Given the description of an element on the screen output the (x, y) to click on. 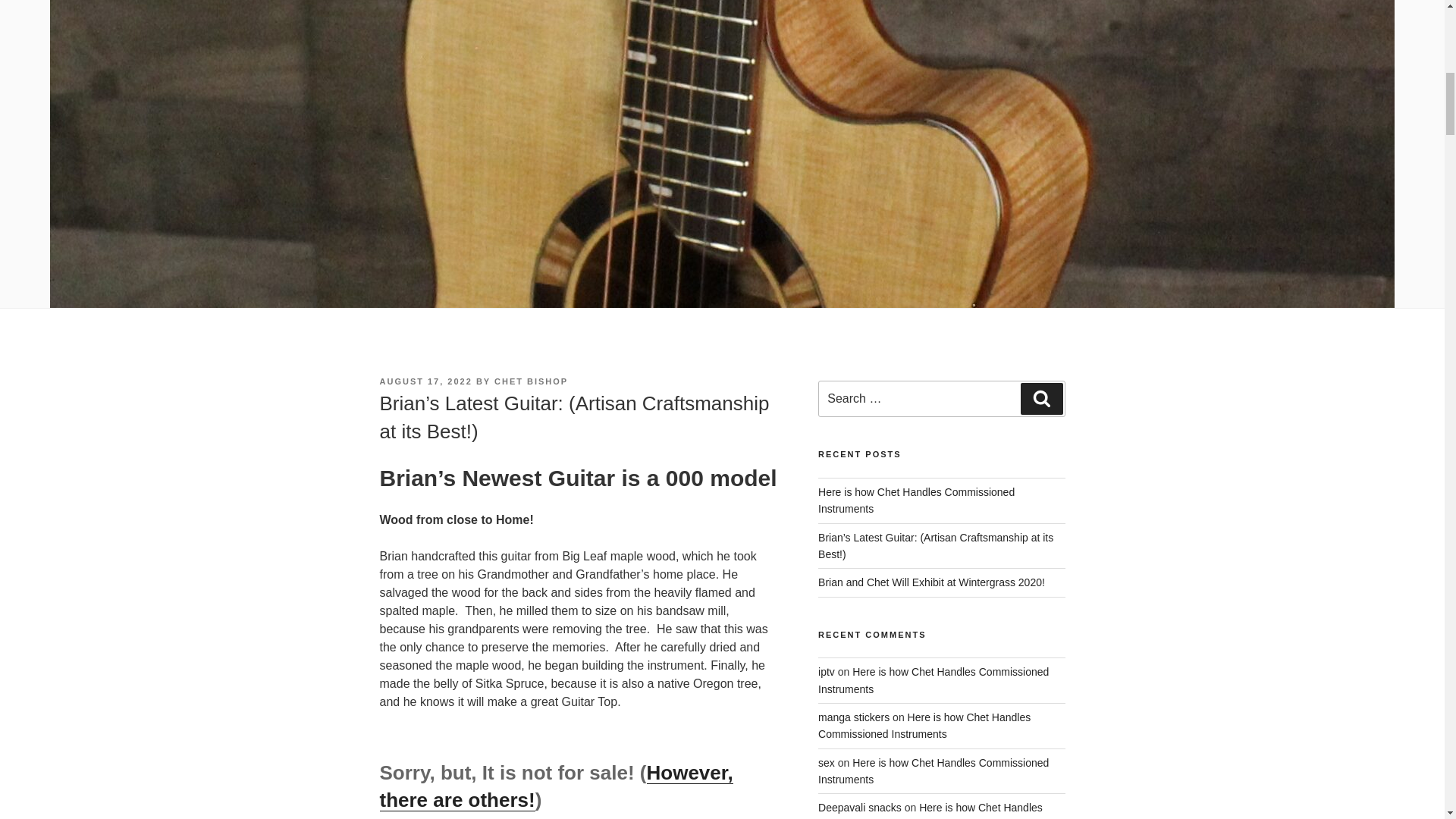
AUGUST 17, 2022 (424, 380)
CHET BISHOP (531, 380)
However, there are others! (555, 786)
